Given the description of an element on the screen output the (x, y) to click on. 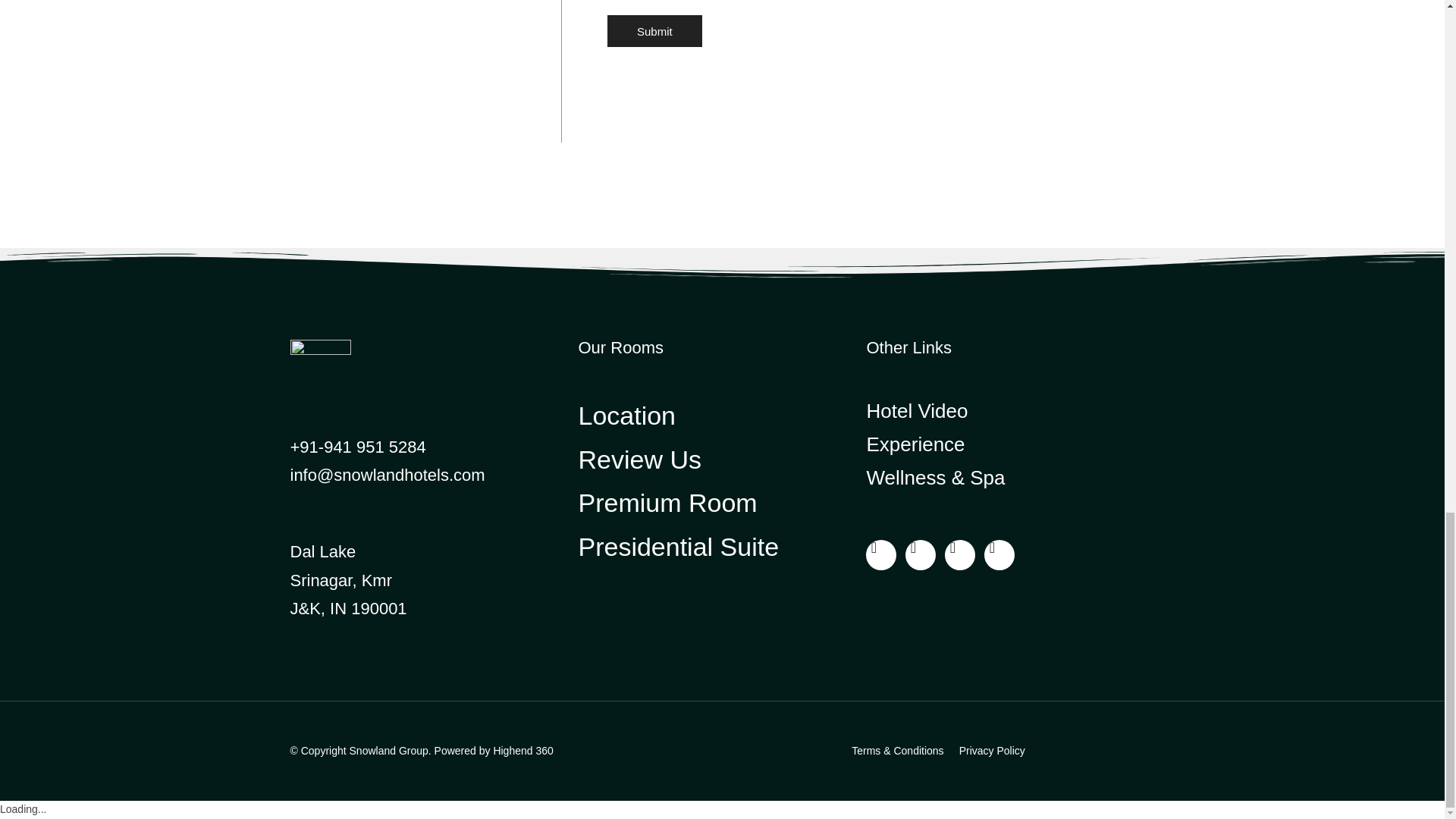
Submit (654, 30)
Hotel Video (1010, 410)
Presidential Suite (722, 547)
Review Us (722, 460)
Submit (654, 30)
Location (722, 415)
Experience (1010, 444)
Privacy Policy (992, 751)
Premium Room (722, 503)
